Given the description of an element on the screen output the (x, y) to click on. 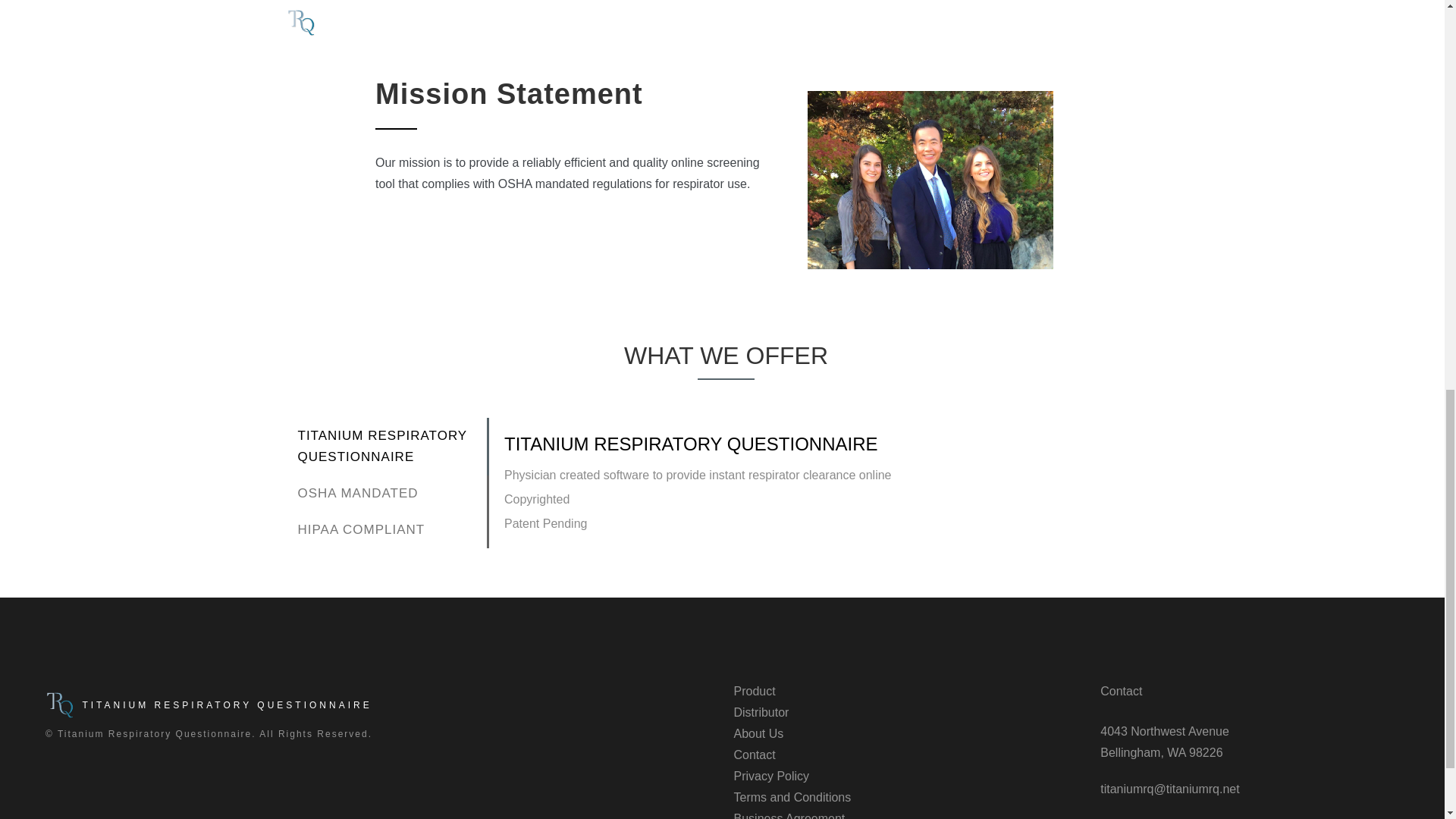
HIPAA COMPLIANT (389, 529)
Business Agreement (789, 815)
Privacy Policy (771, 775)
About Us (758, 733)
Distributor (761, 712)
OSHA MANDATED (389, 493)
Contact (754, 754)
TITANIUM RESPIRATORY QUESTIONNAIRE (389, 446)
Terms and Conditions (792, 797)
Product (754, 690)
